Given the description of an element on the screen output the (x, y) to click on. 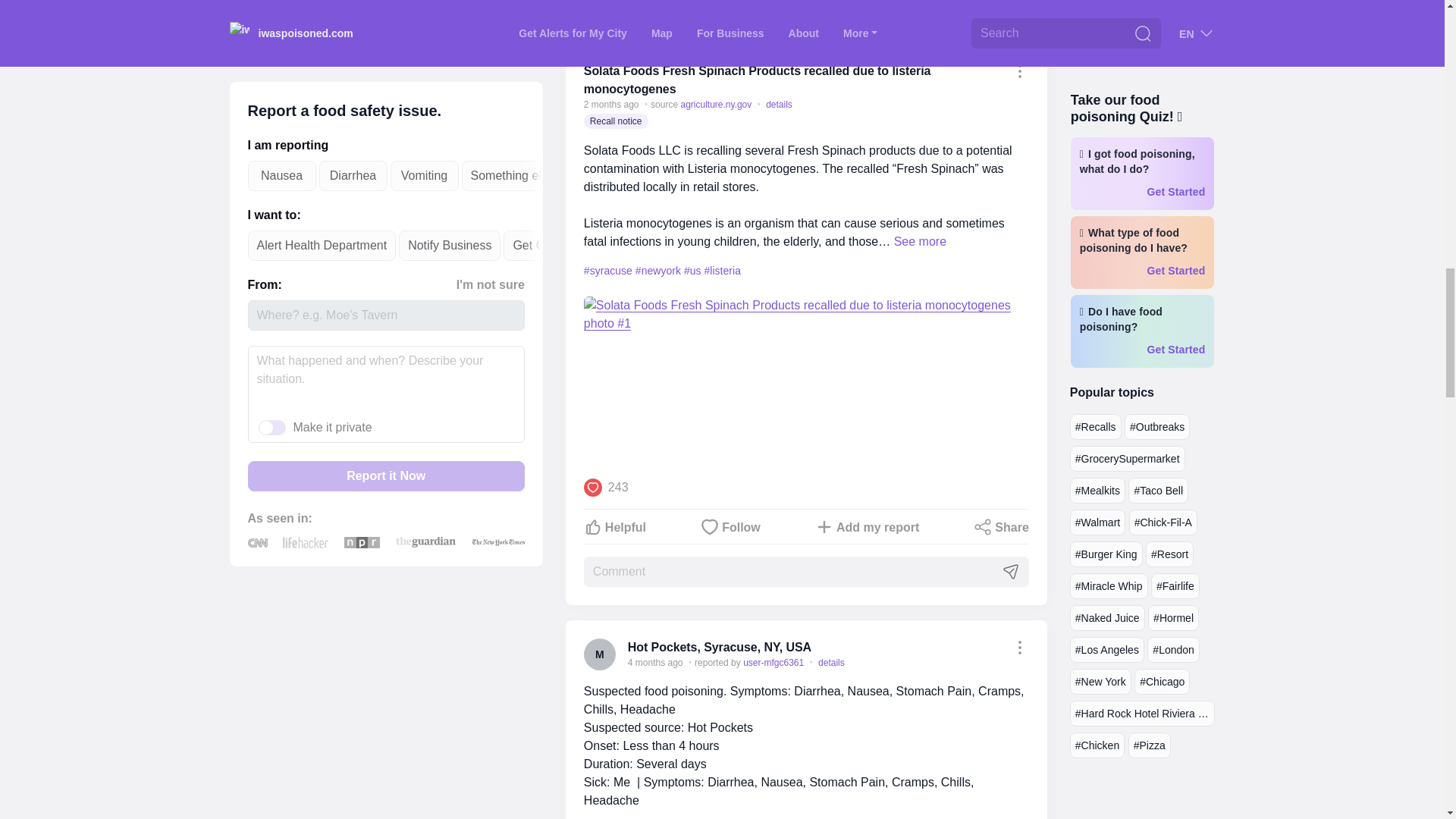
Copied (1019, 71)
Hot Pockets, Syracuse, NY, USA (718, 646)
